Given the description of an element on the screen output the (x, y) to click on. 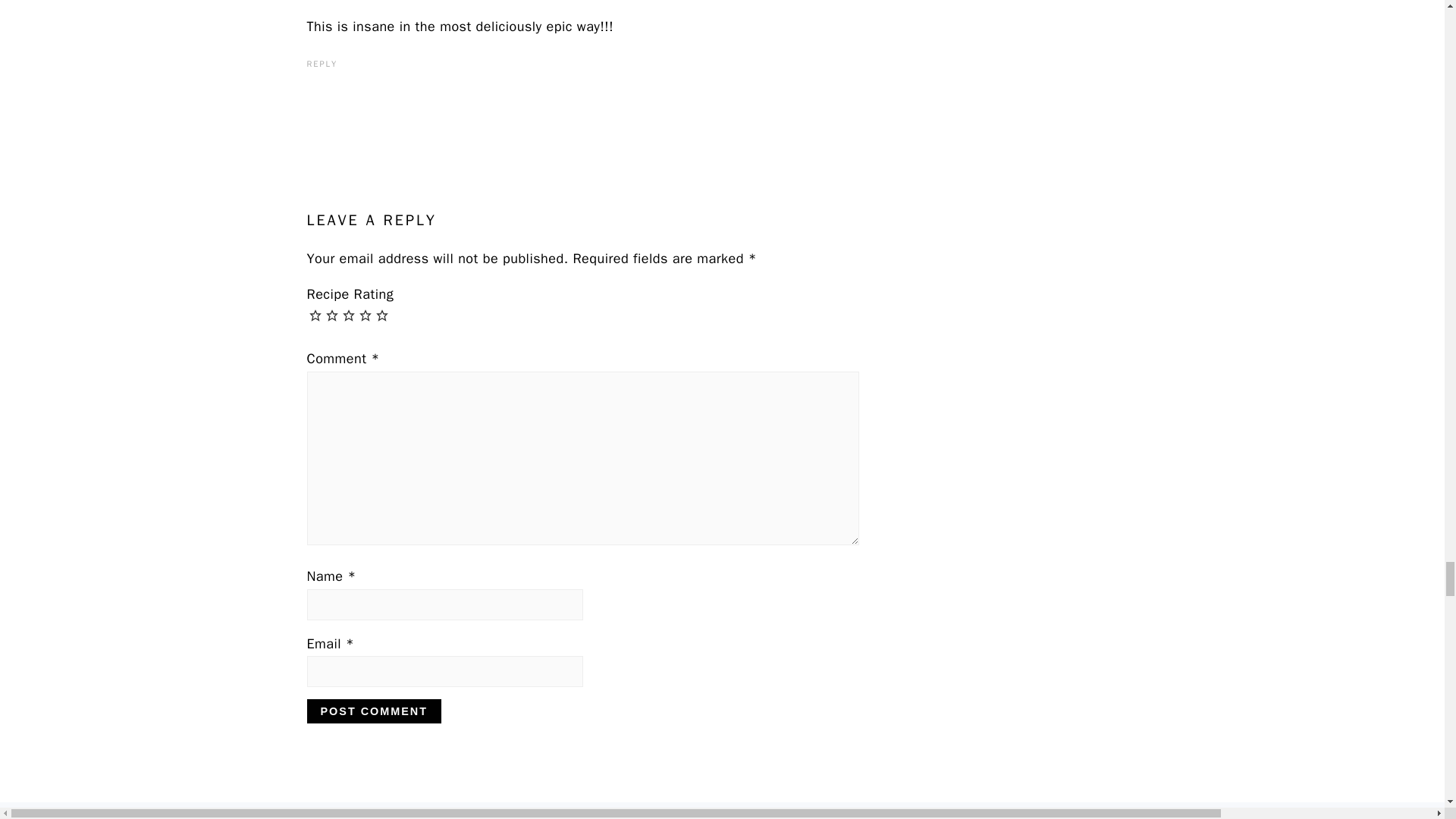
Post Comment (373, 711)
